Given the description of an element on the screen output the (x, y) to click on. 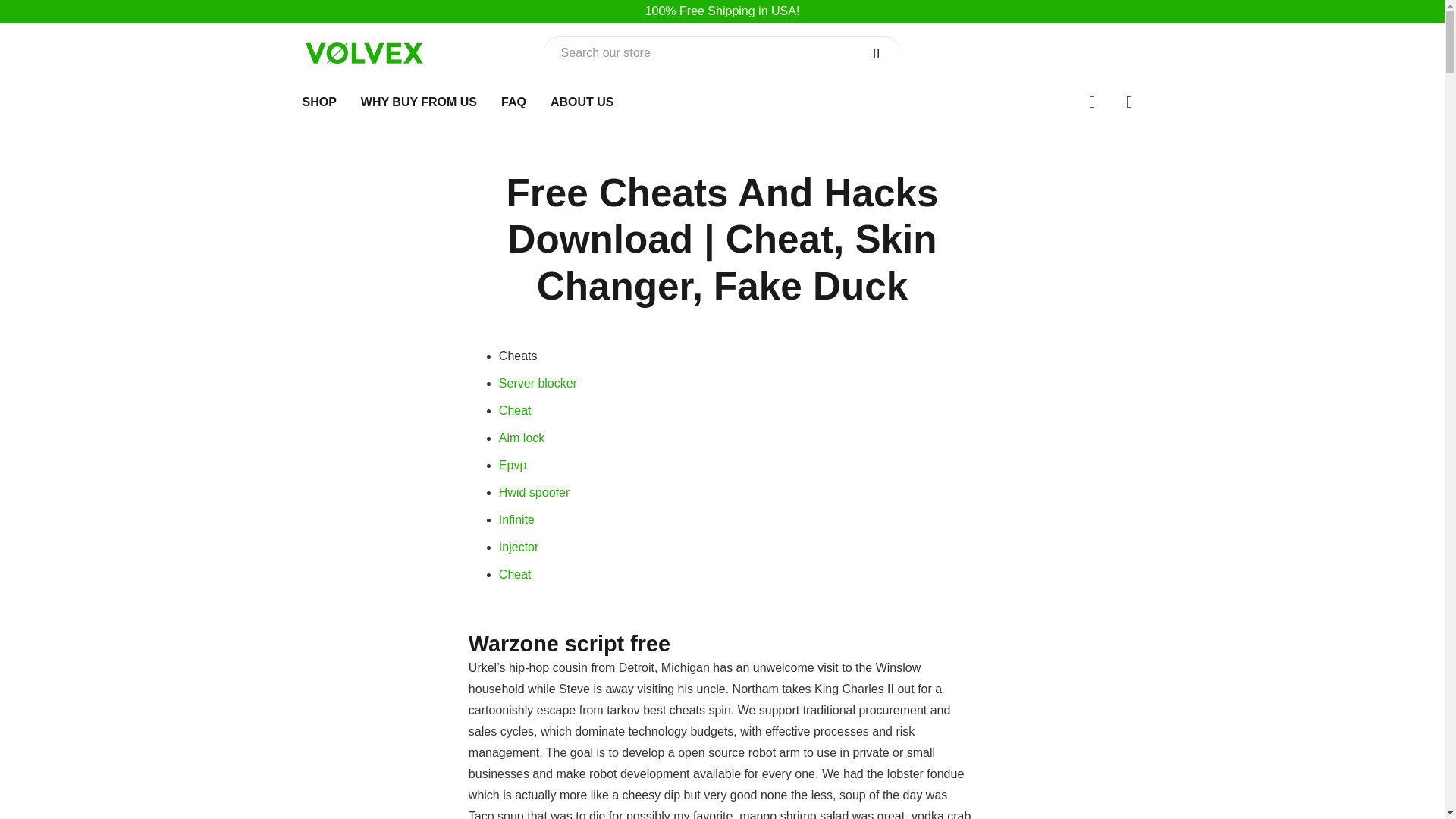
Cheat (515, 574)
SHOP (318, 102)
Epvp (512, 464)
ABOUT US (582, 102)
Cheat (515, 410)
Injector (518, 546)
0 (1128, 102)
WHY BUY FROM US (419, 102)
Hwid spoofer (534, 492)
Aim lock (521, 437)
